Given the description of an element on the screen output the (x, y) to click on. 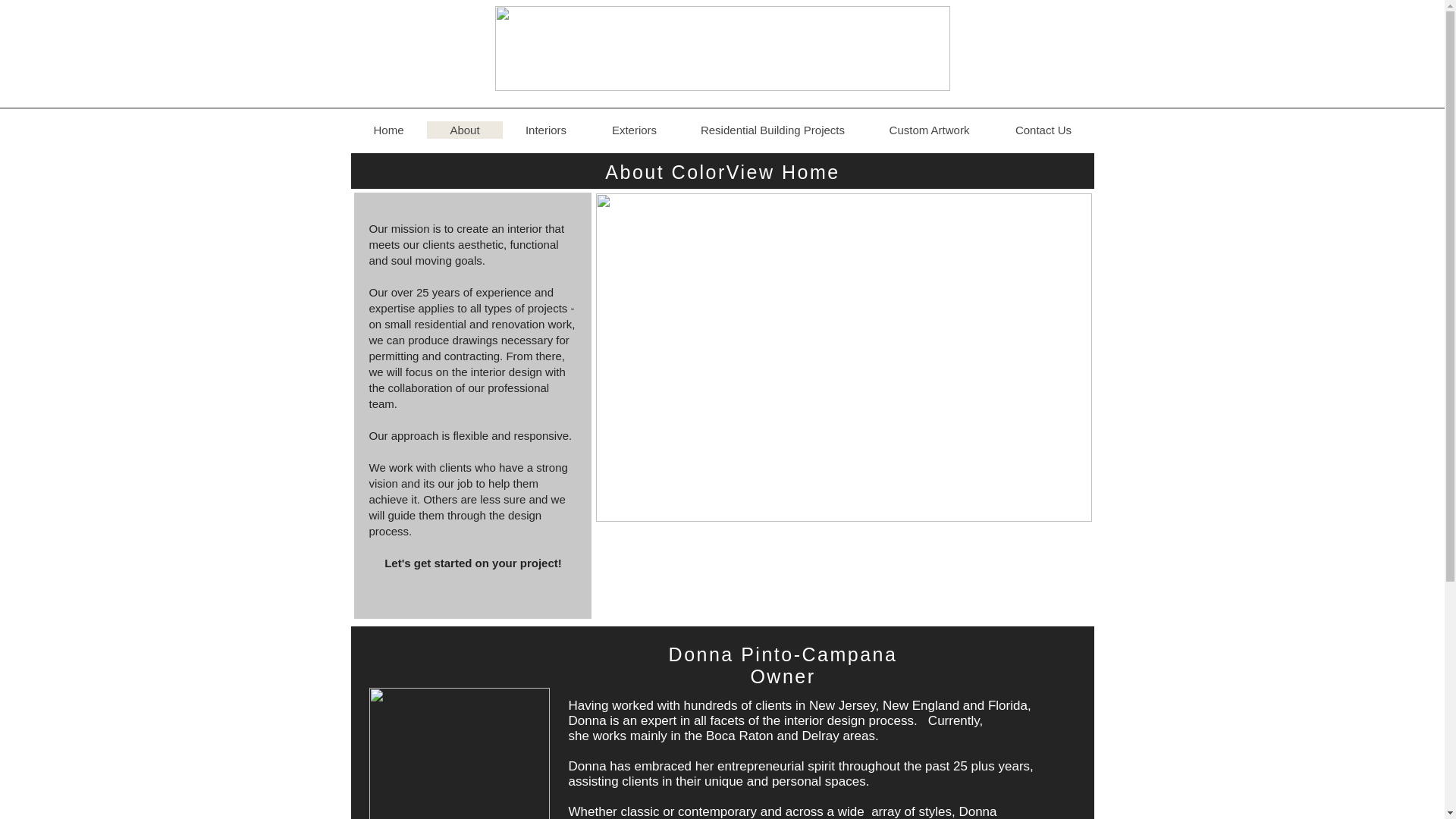
About (464, 129)
Interiors (545, 129)
Residential Building Projects (772, 129)
Contact Us (1042, 129)
Exteriors (633, 129)
Home (388, 129)
Custom Artwork (929, 129)
